Given the description of an element on the screen output the (x, y) to click on. 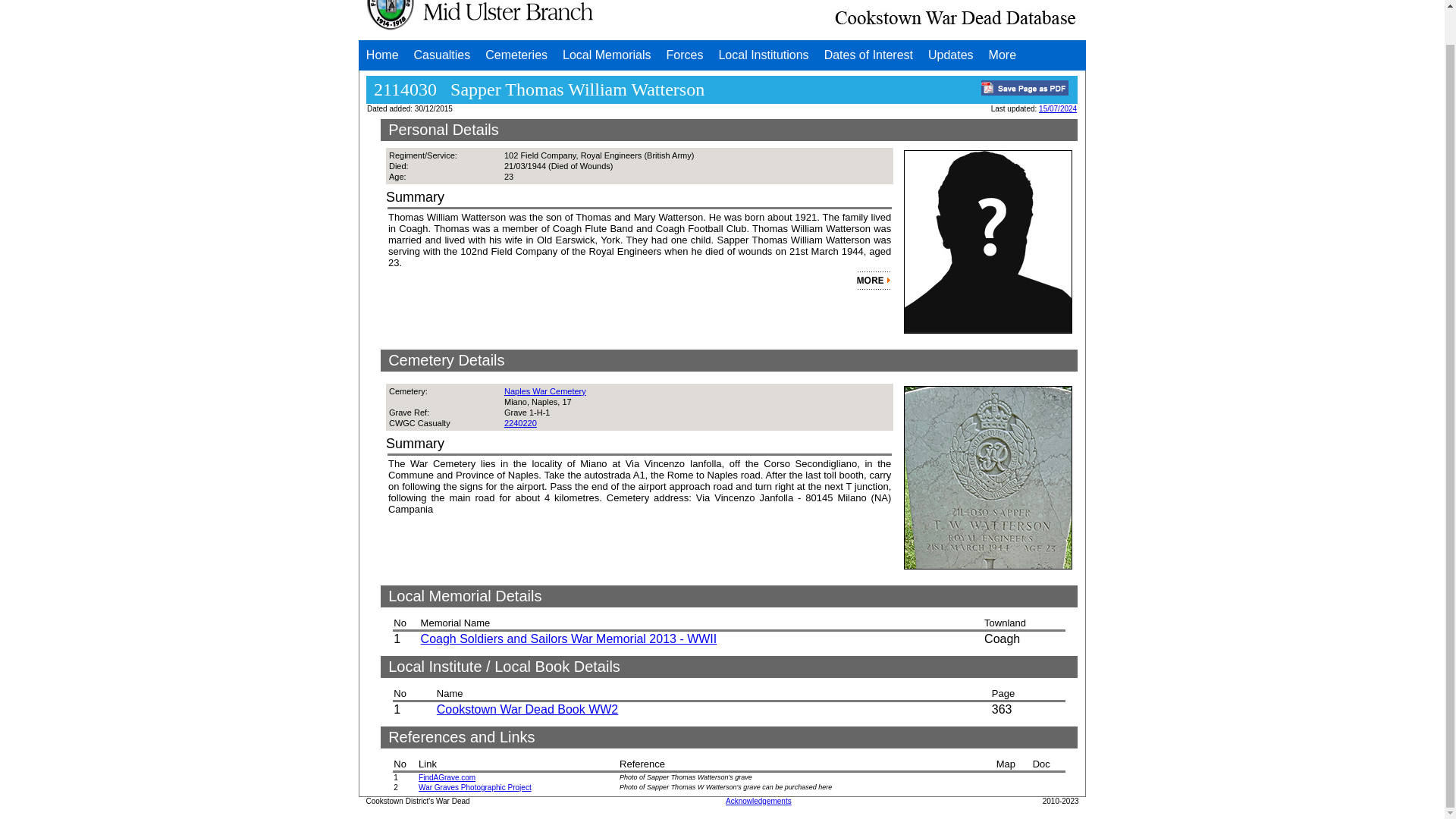
Dates of Interest (868, 55)
Cemeteries (515, 55)
Friends of the Somme - Mid Ulster Branch (480, 18)
Local Memorials (606, 55)
Casualties (442, 55)
Home (382, 55)
More (1002, 55)
Updates (950, 55)
Local Institutions (762, 55)
